Given the description of an element on the screen output the (x, y) to click on. 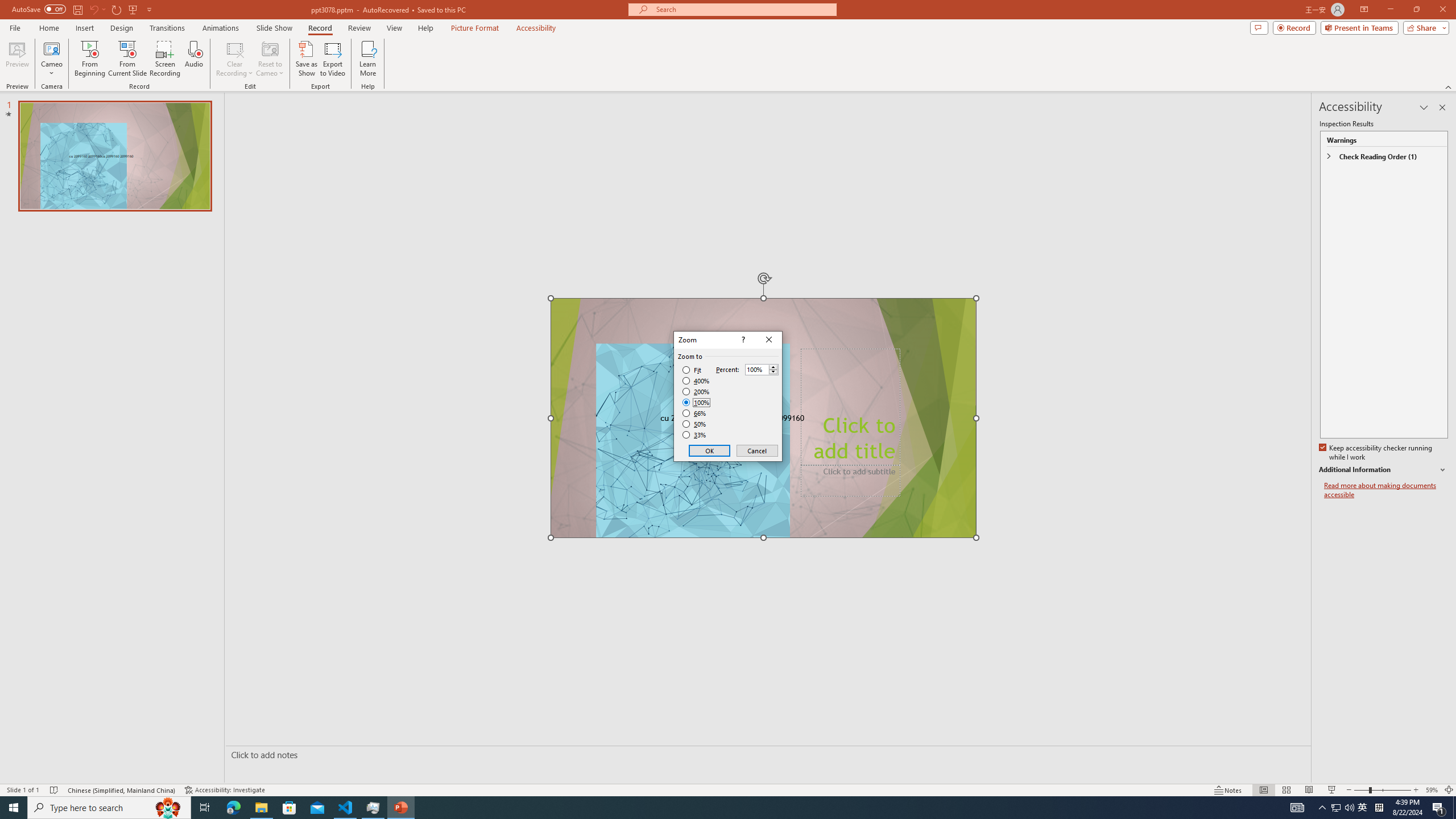
Picture Format (475, 28)
200% (696, 391)
